Given the description of an element on the screen output the (x, y) to click on. 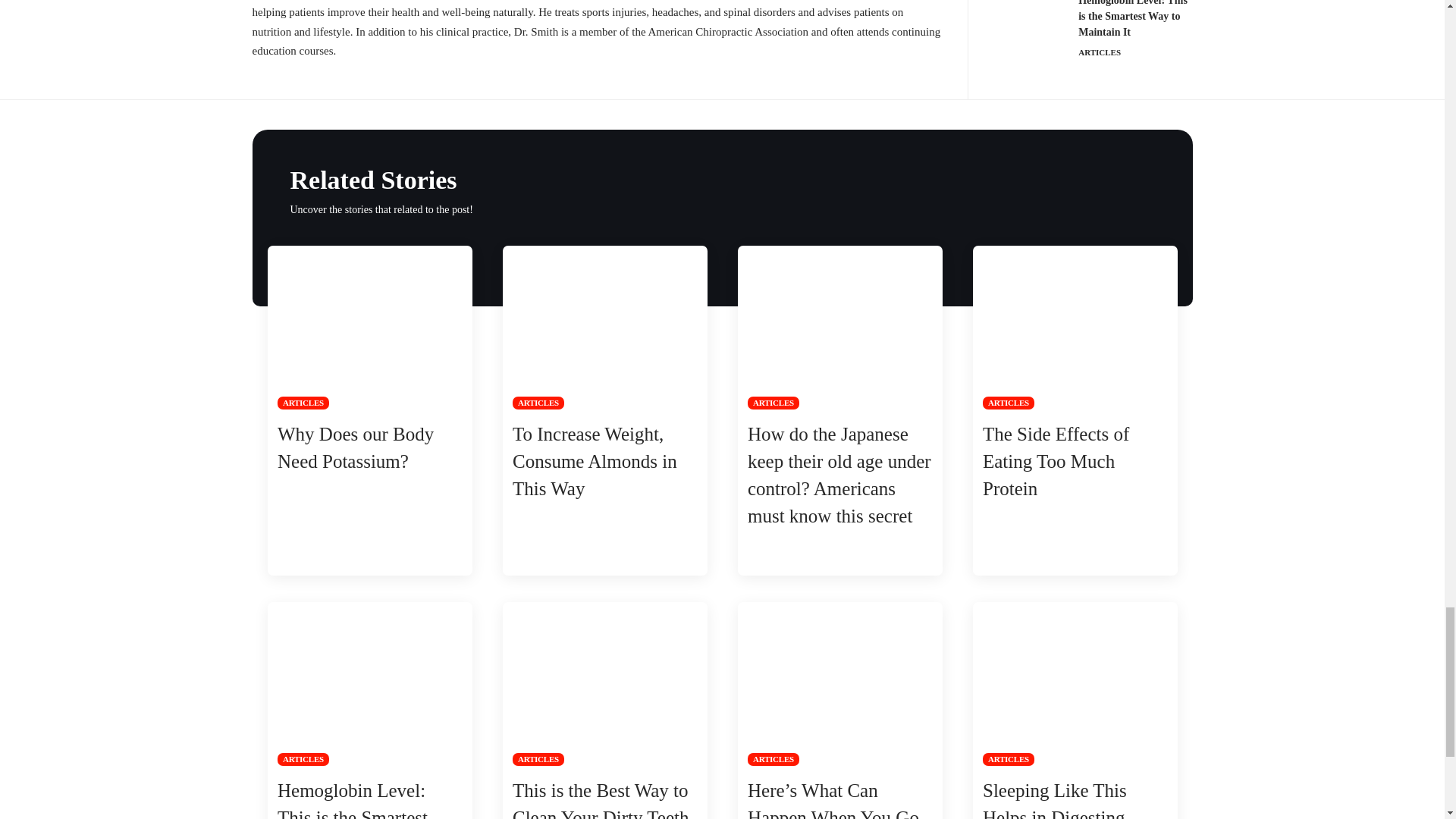
To Increase Weight, Consume Almonds in This Way (604, 327)
Why Does our Body Need Potassium? (368, 327)
